Given the description of an element on the screen output the (x, y) to click on. 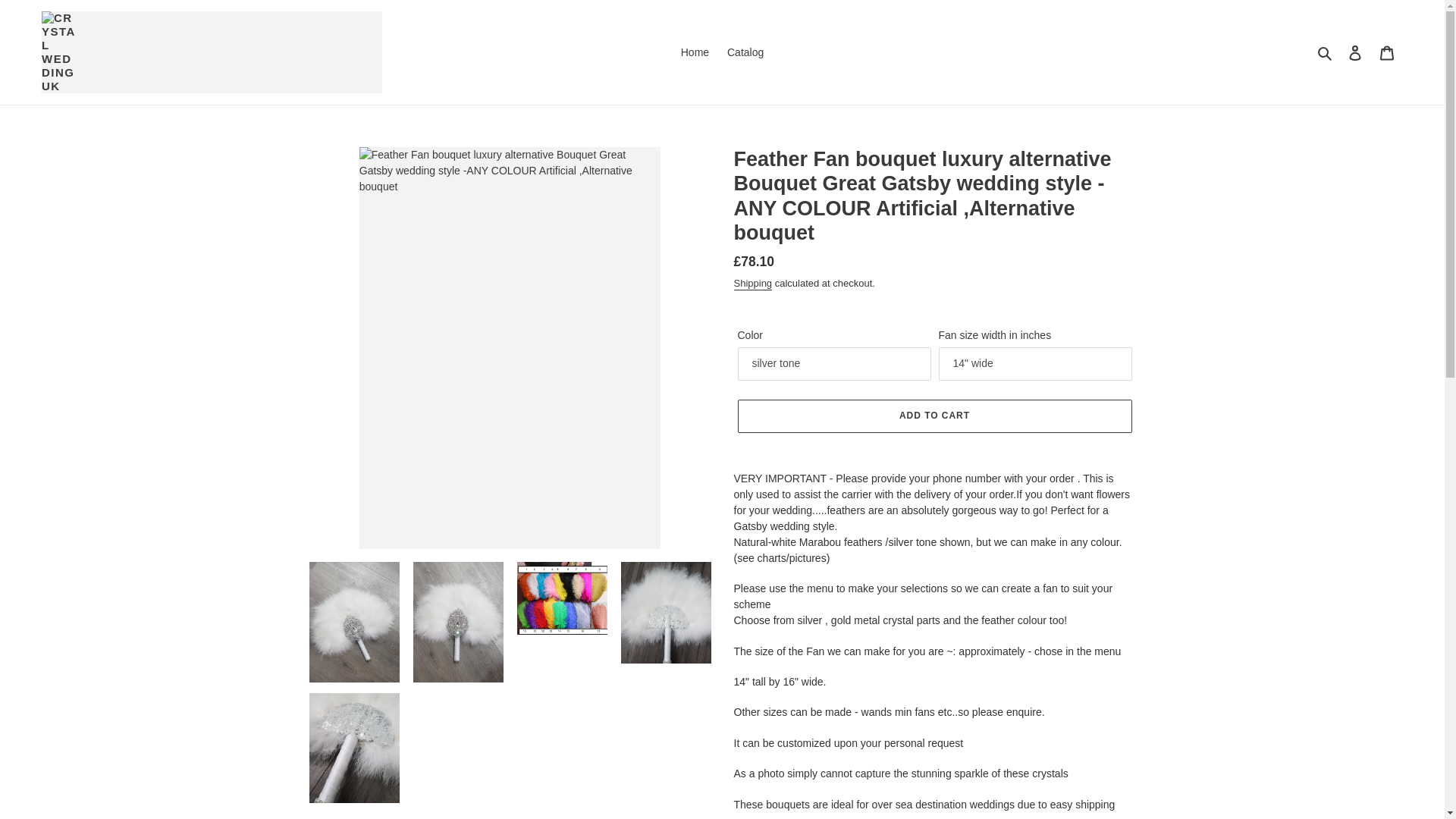
Shipping (753, 283)
Home (694, 52)
Log in (1355, 51)
Search (1326, 51)
ADD TO CART (933, 416)
Catalog (745, 52)
Cart (1387, 51)
